Given the description of an element on the screen output the (x, y) to click on. 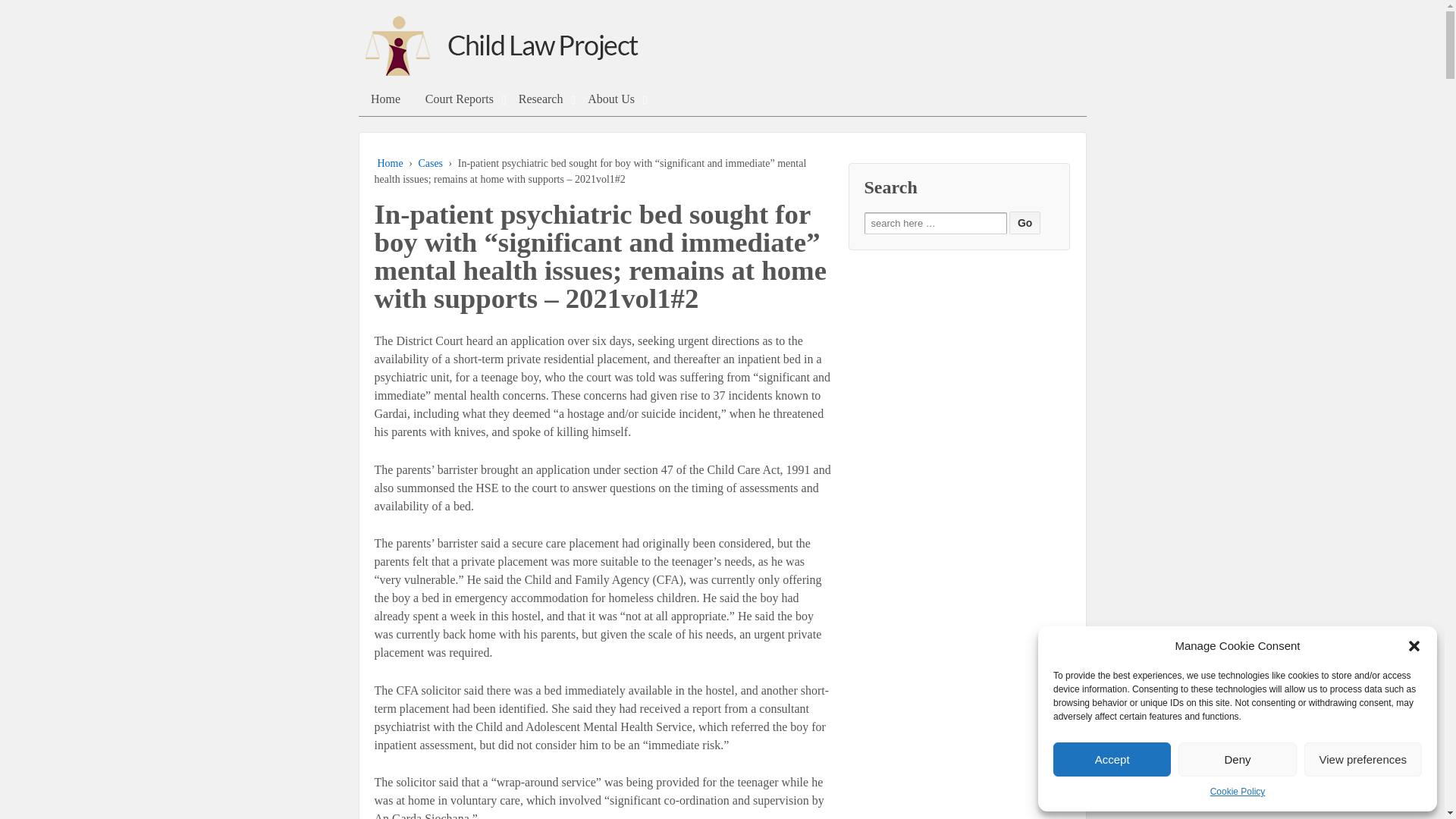
Cookie Policy (1237, 791)
Deny (1236, 759)
Home (390, 163)
Court Reports (458, 98)
Home (384, 98)
View preferences (1363, 759)
Go (1025, 222)
Go (1025, 222)
Research (539, 98)
About Us (611, 98)
